Given the description of an element on the screen output the (x, y) to click on. 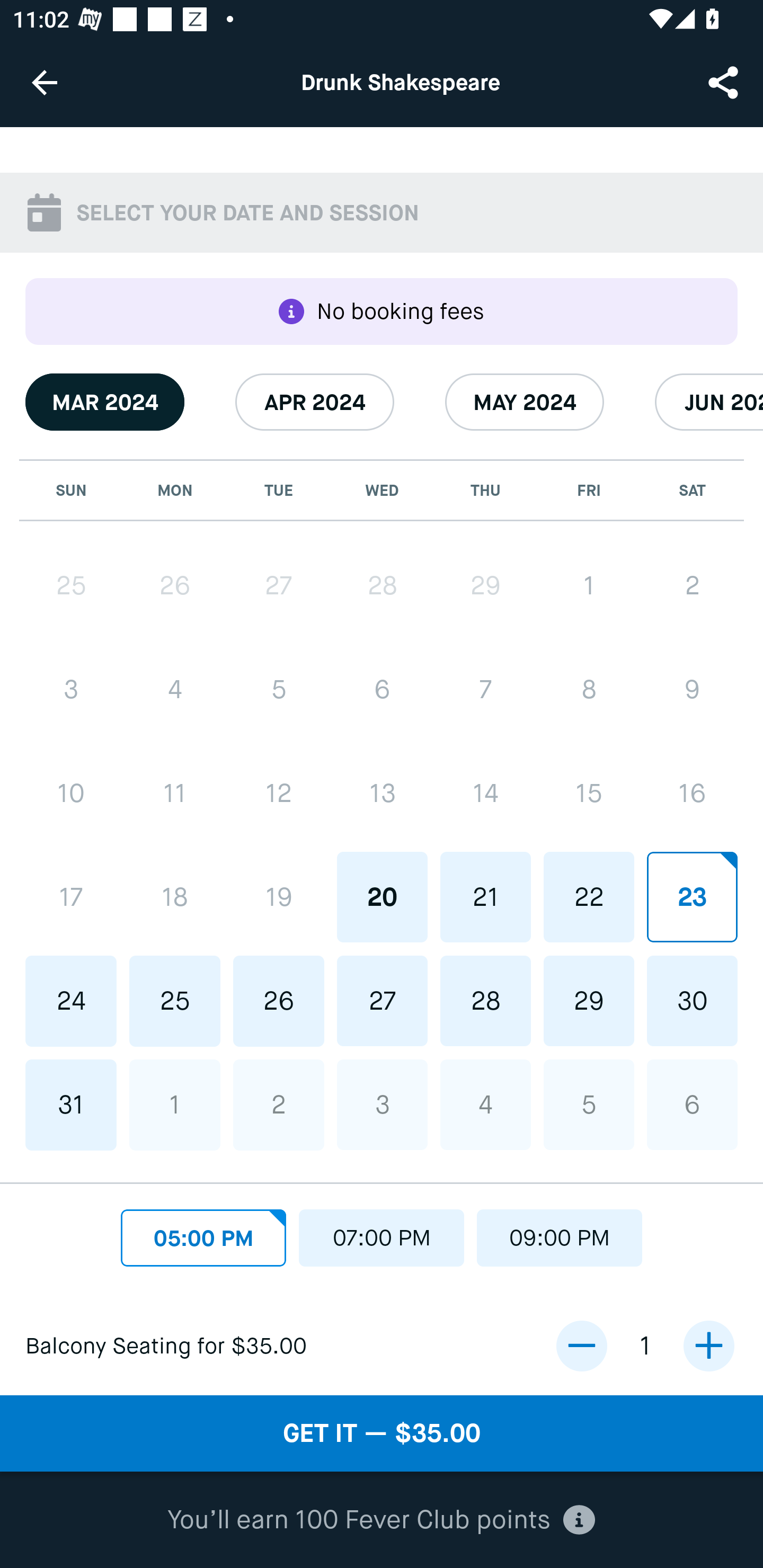
Navigate up (44, 82)
Share (724, 81)
MAR 2024 (104, 401)
APR 2024 (314, 401)
MAY 2024 (524, 401)
JUN 2024 (708, 401)
25 (70, 585)
26 (174, 585)
27 (278, 585)
28 (382, 585)
29 (485, 585)
1 (588, 585)
2 (692, 585)
3 (70, 689)
4 (174, 689)
5 (278, 689)
6 (382, 689)
7 (485, 689)
8 (588, 689)
9 (692, 689)
10 (70, 792)
11 (174, 792)
12 (278, 792)
13 (382, 792)
14 (485, 792)
15 (588, 792)
16 (692, 792)
17 (70, 896)
18 (174, 896)
19 (278, 896)
20 (382, 896)
21 (485, 896)
22 (588, 896)
23 (692, 896)
24 (70, 1000)
25 (174, 1000)
26 (278, 1000)
27 (382, 999)
28 (485, 999)
29 (588, 999)
30 (692, 999)
31 (70, 1104)
1 (174, 1104)
2 (278, 1104)
3 (382, 1104)
4 (485, 1104)
5 (588, 1104)
6 (692, 1104)
05:00 PM (203, 1232)
07:00 PM (381, 1232)
09:00 PM (559, 1232)
decrease (581, 1345)
increase (708, 1345)
GET IT — $35.00 (381, 1433)
You’ll earn 100 Fever Club points (381, 1519)
